Given the description of an element on the screen output the (x, y) to click on. 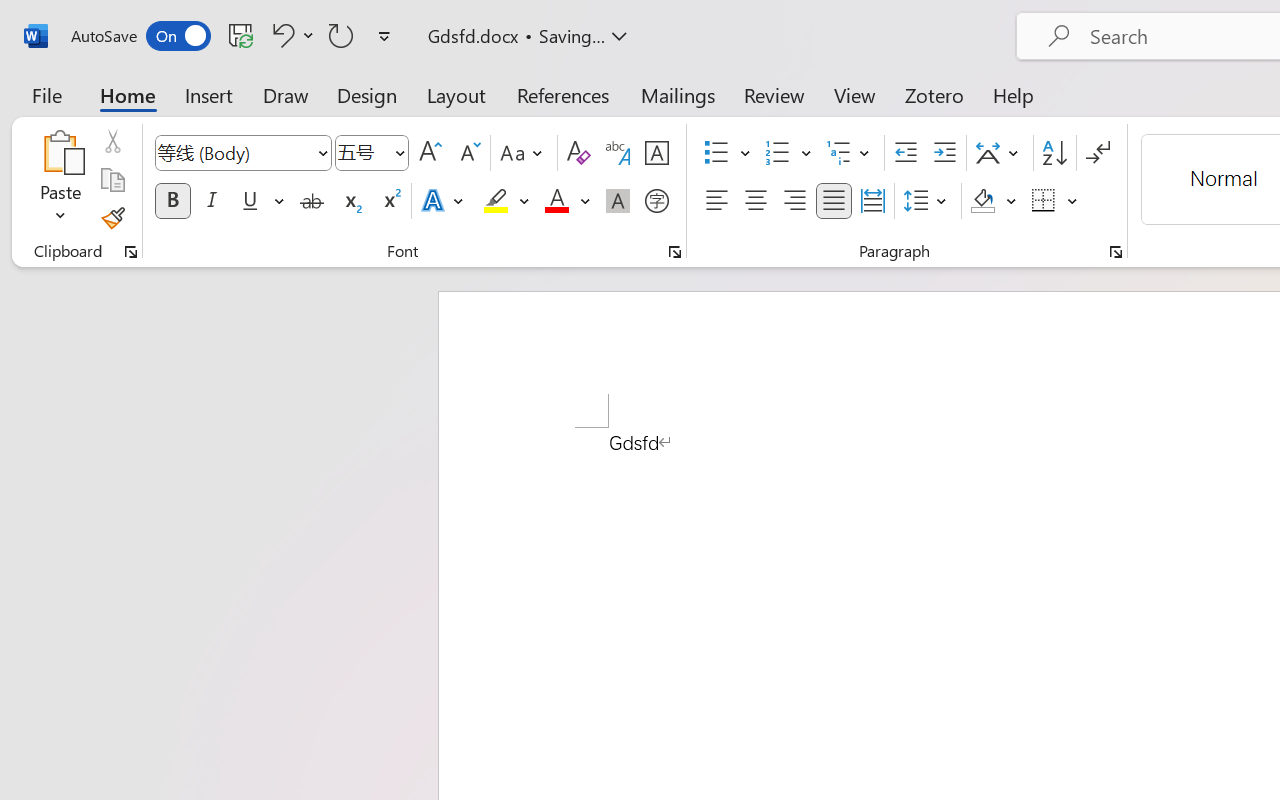
Distributed (872, 201)
Align Right (794, 201)
Superscript (390, 201)
Phonetic Guide... (618, 153)
Subscript (350, 201)
Increase Indent (944, 153)
Undo Style (290, 35)
Undo Style (280, 35)
Font Color (567, 201)
Clear Formatting (578, 153)
Bold (172, 201)
